Given the description of an element on the screen output the (x, y) to click on. 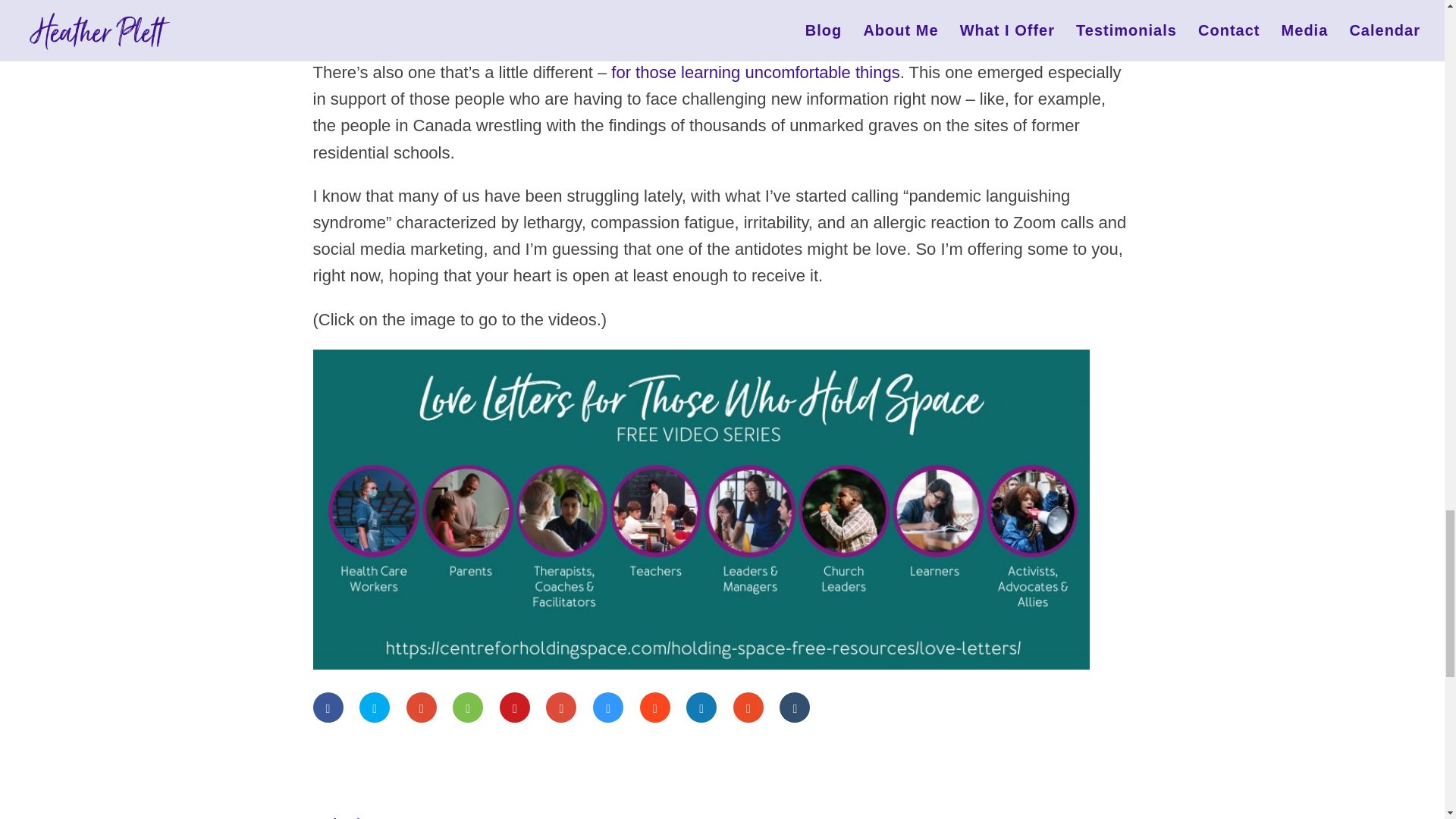
for those learning uncomfortable things (755, 72)
